Given the description of an element on the screen output the (x, y) to click on. 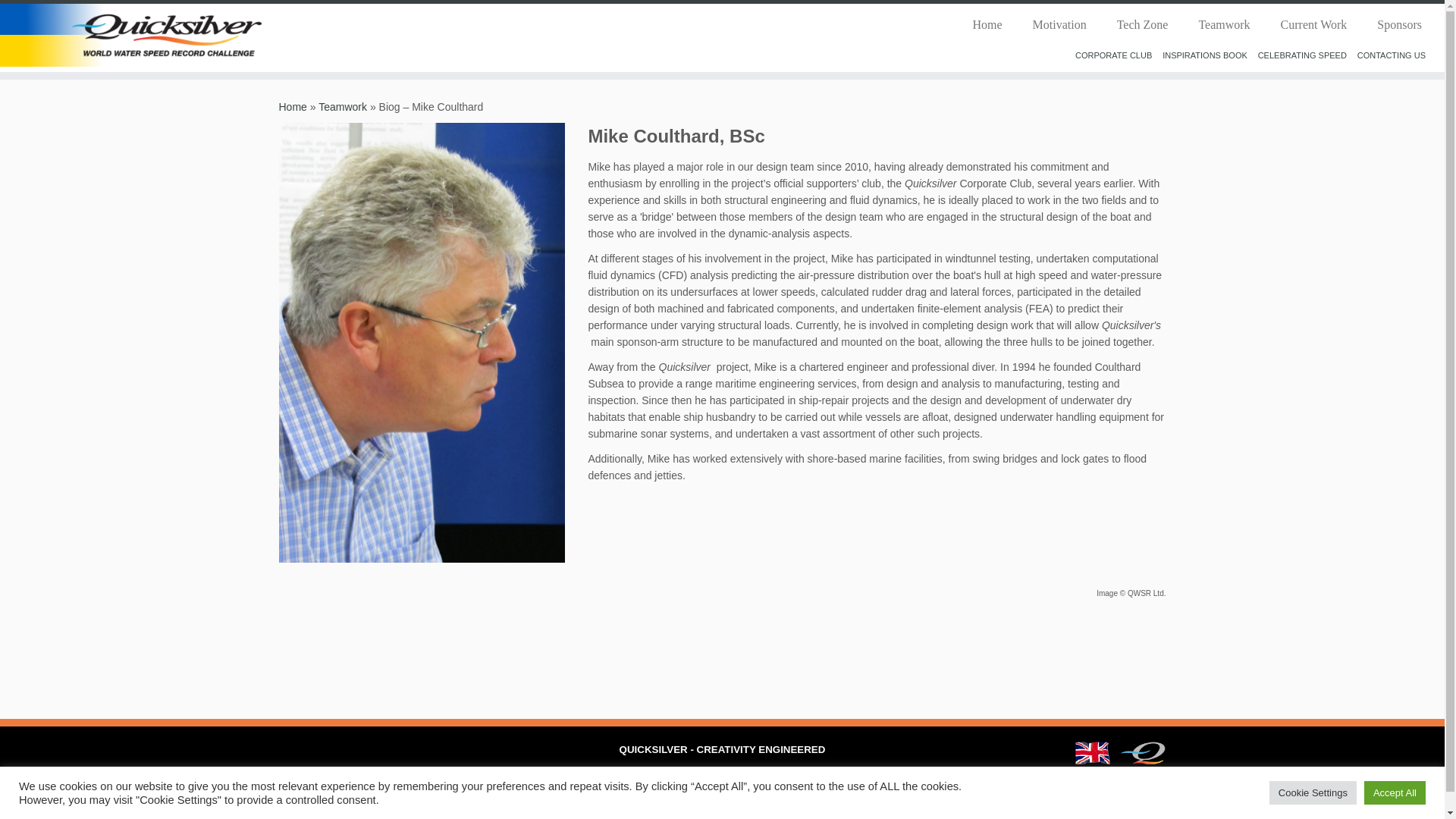
Teamwork (342, 106)
Motivation (1059, 24)
CELEBRATING SPEED (1301, 54)
Home (986, 24)
Home (293, 106)
Tech Zone (1142, 24)
Teamwork (1223, 24)
Teamwork (342, 106)
CONTACTING US (1390, 54)
Quicksilver WSR (293, 106)
INSPIRATIONS BOOK (1204, 54)
Sponsors (1391, 24)
Current Work (1313, 24)
CORPORATE CLUB (1113, 54)
